Given the description of an element on the screen output the (x, y) to click on. 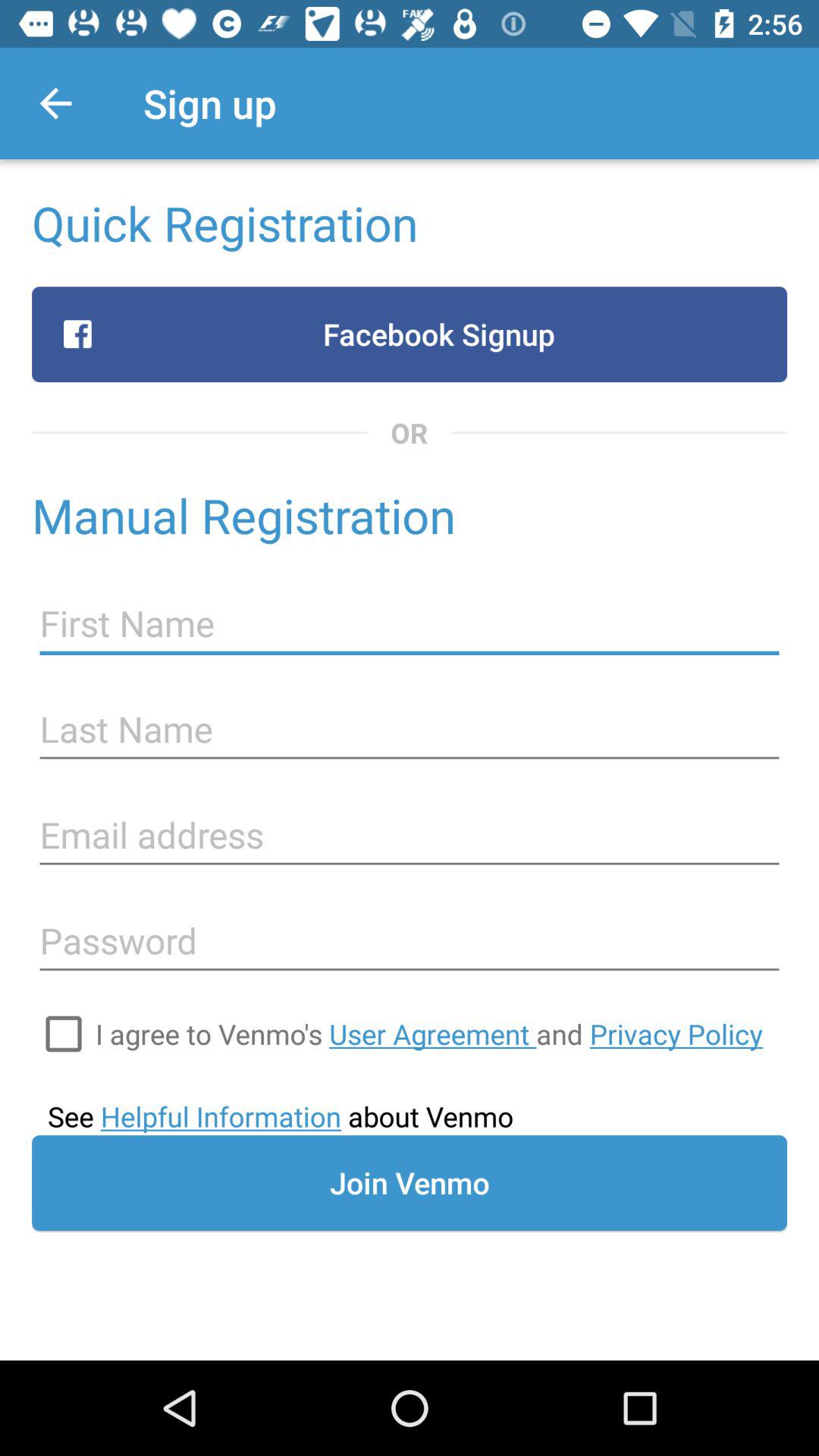
select the item above quick registration (55, 103)
